Given the description of an element on the screen output the (x, y) to click on. 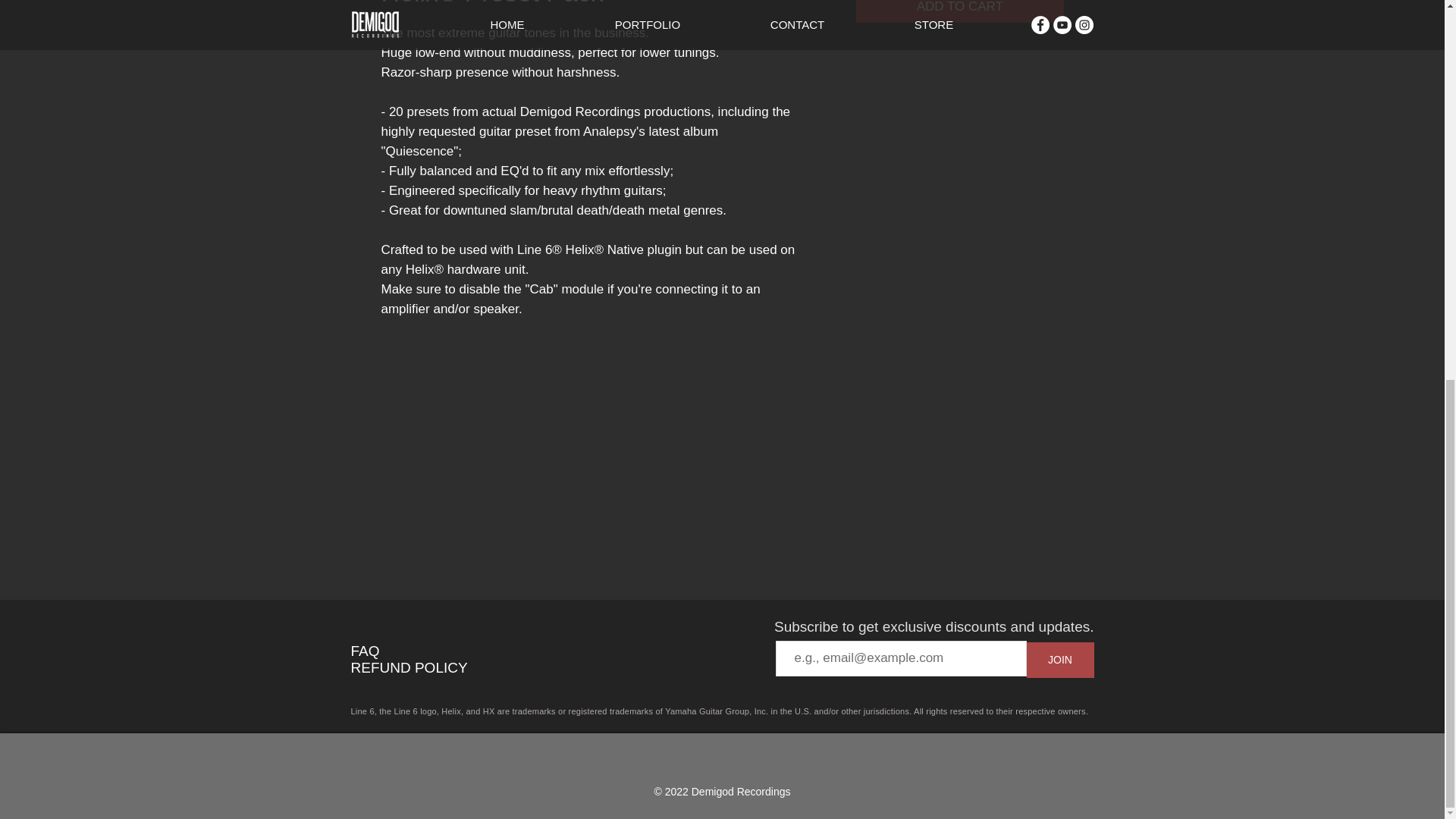
ADD TO CART (959, 11)
JOIN (1060, 660)
REFUND POLICY (408, 667)
FAQ (364, 650)
